Given the description of an element on the screen output the (x, y) to click on. 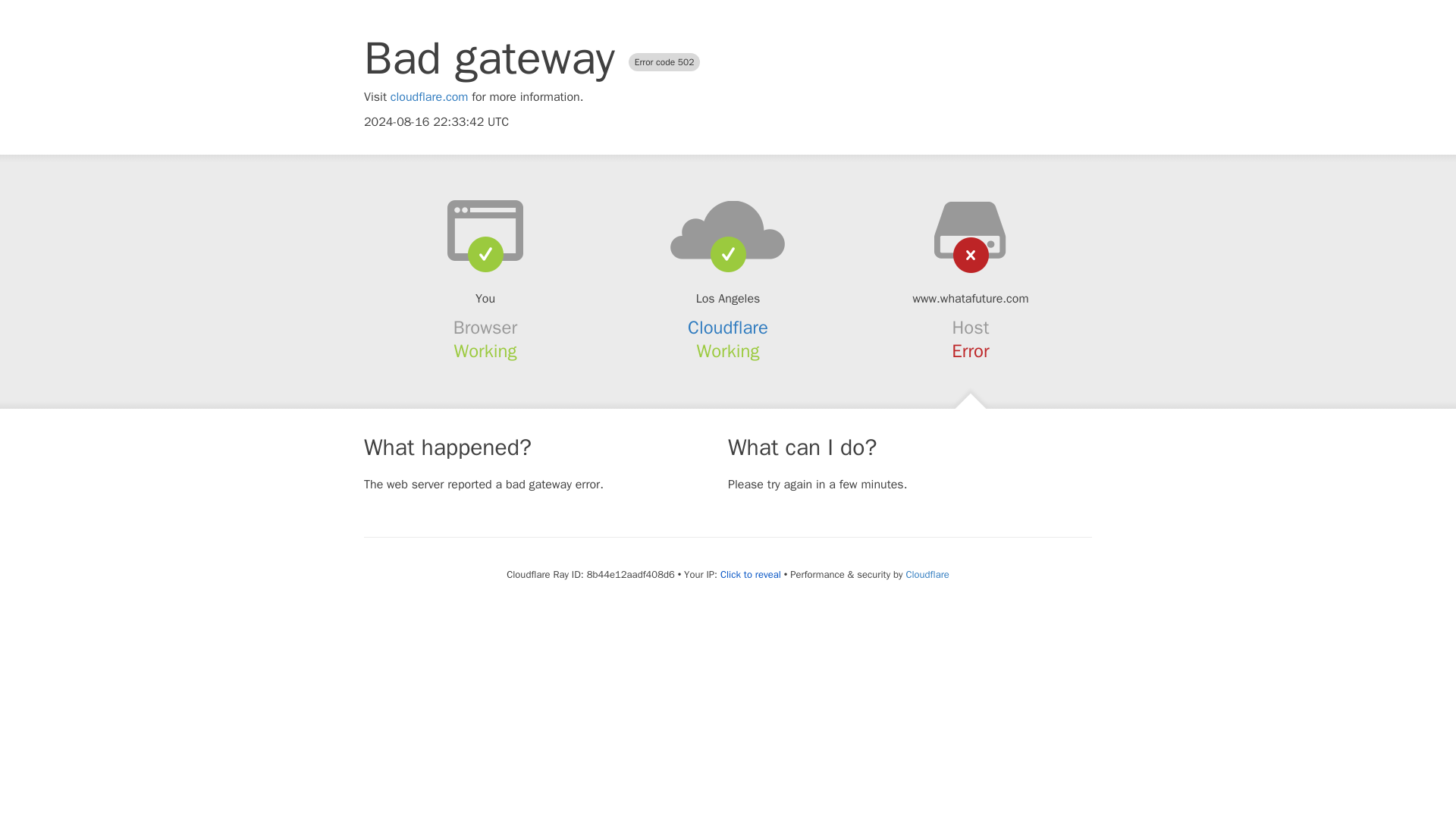
cloudflare.com (429, 96)
Cloudflare (927, 574)
Cloudflare (727, 327)
Click to reveal (750, 574)
